Given the description of an element on the screen output the (x, y) to click on. 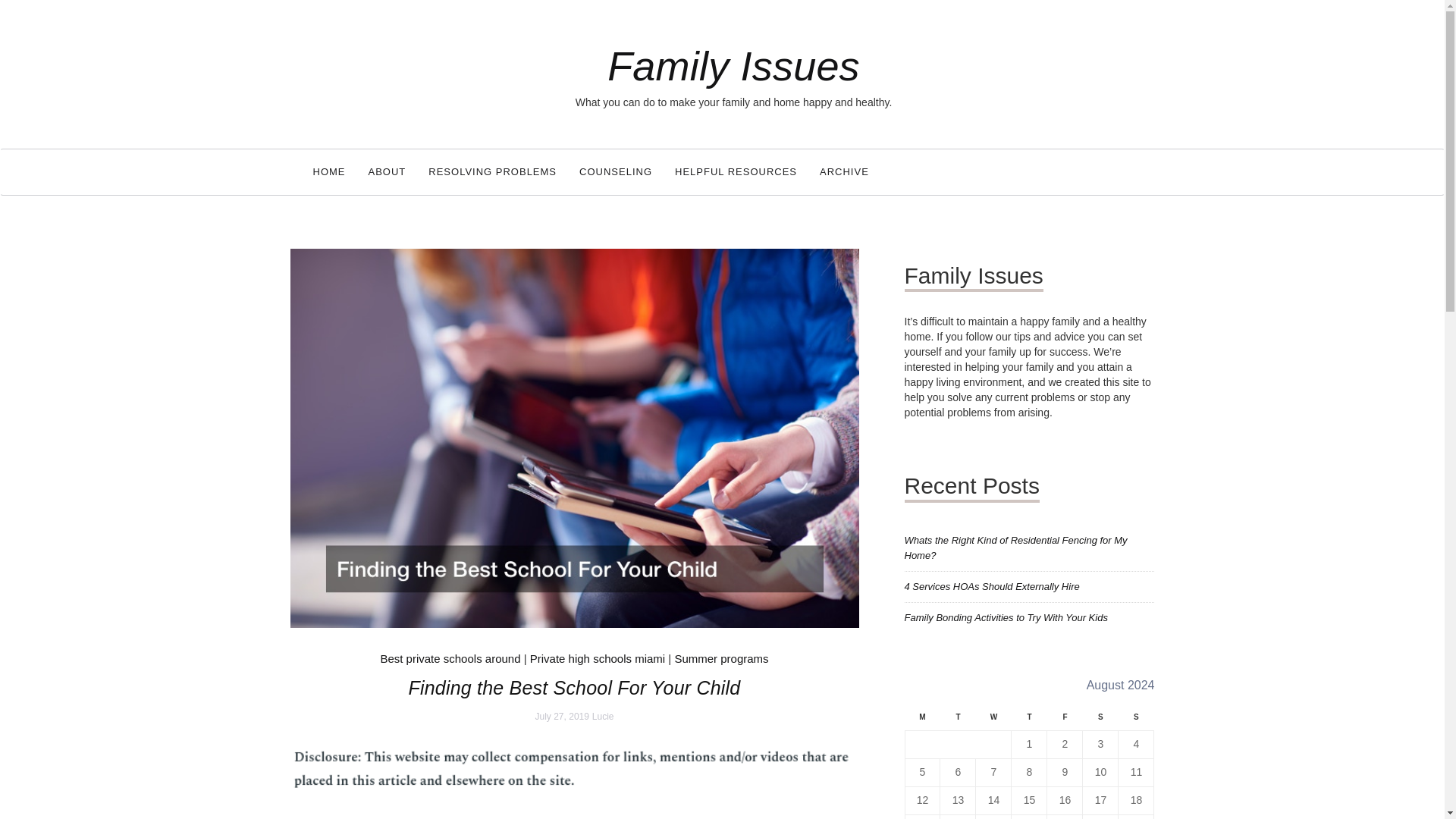
Thursday (1028, 721)
ARCHIVE (844, 171)
Private high schools miami (597, 658)
Helpful Resources (735, 171)
Best private schools around (449, 658)
Whats the Right Kind of Residential Fencing for My Home? (1015, 547)
RESOLVING PROBLEMS (491, 171)
Resolving Problems (491, 171)
Archive (844, 171)
ABOUT (386, 171)
Family Issues (733, 65)
Tuesday (957, 721)
Family Bonding Activities to Try With Your Kids (1005, 617)
HOME (328, 171)
Wednesday (993, 721)
